Given the description of an element on the screen output the (x, y) to click on. 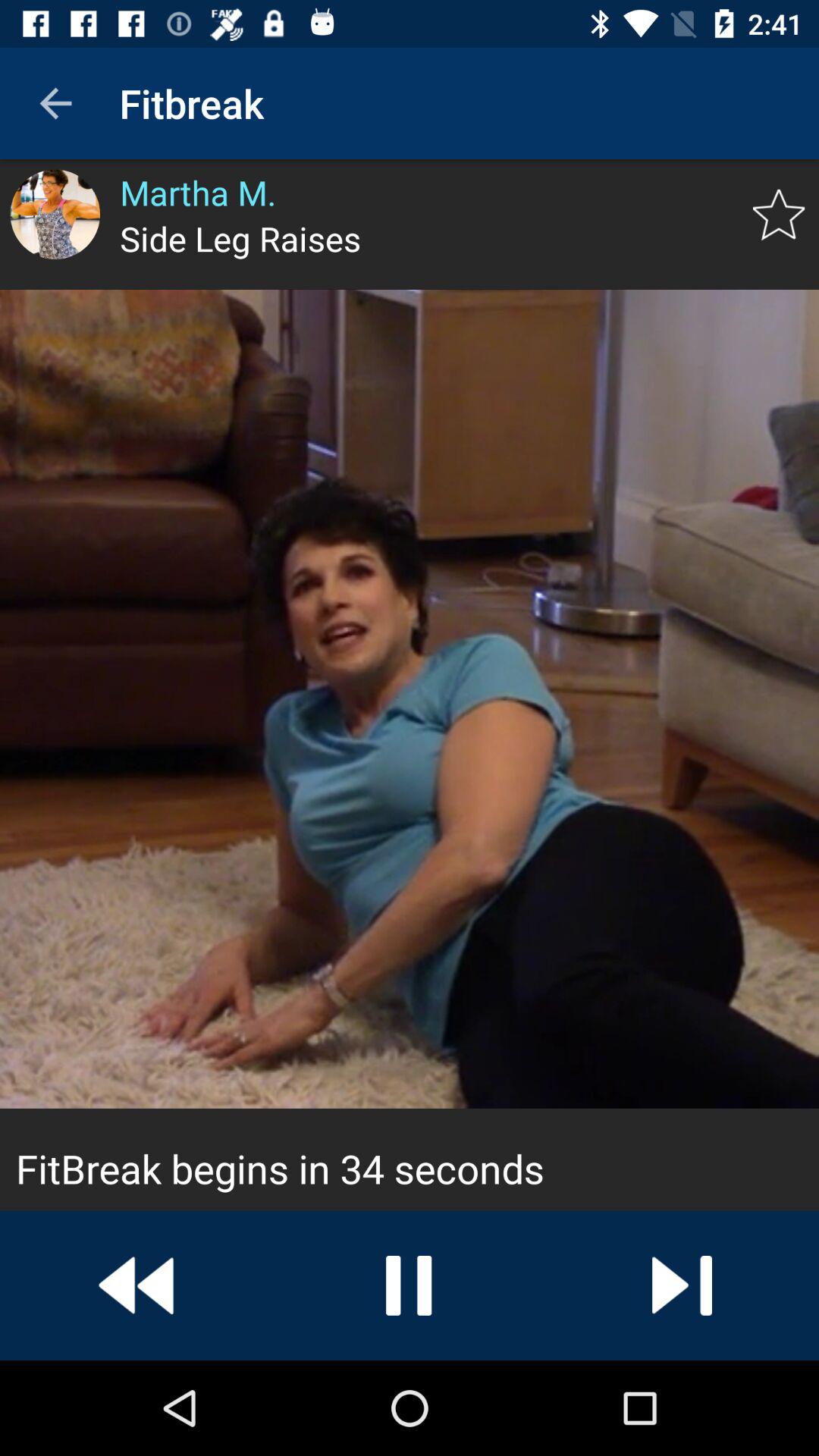
pause video (409, 1285)
